Given the description of an element on the screen output the (x, y) to click on. 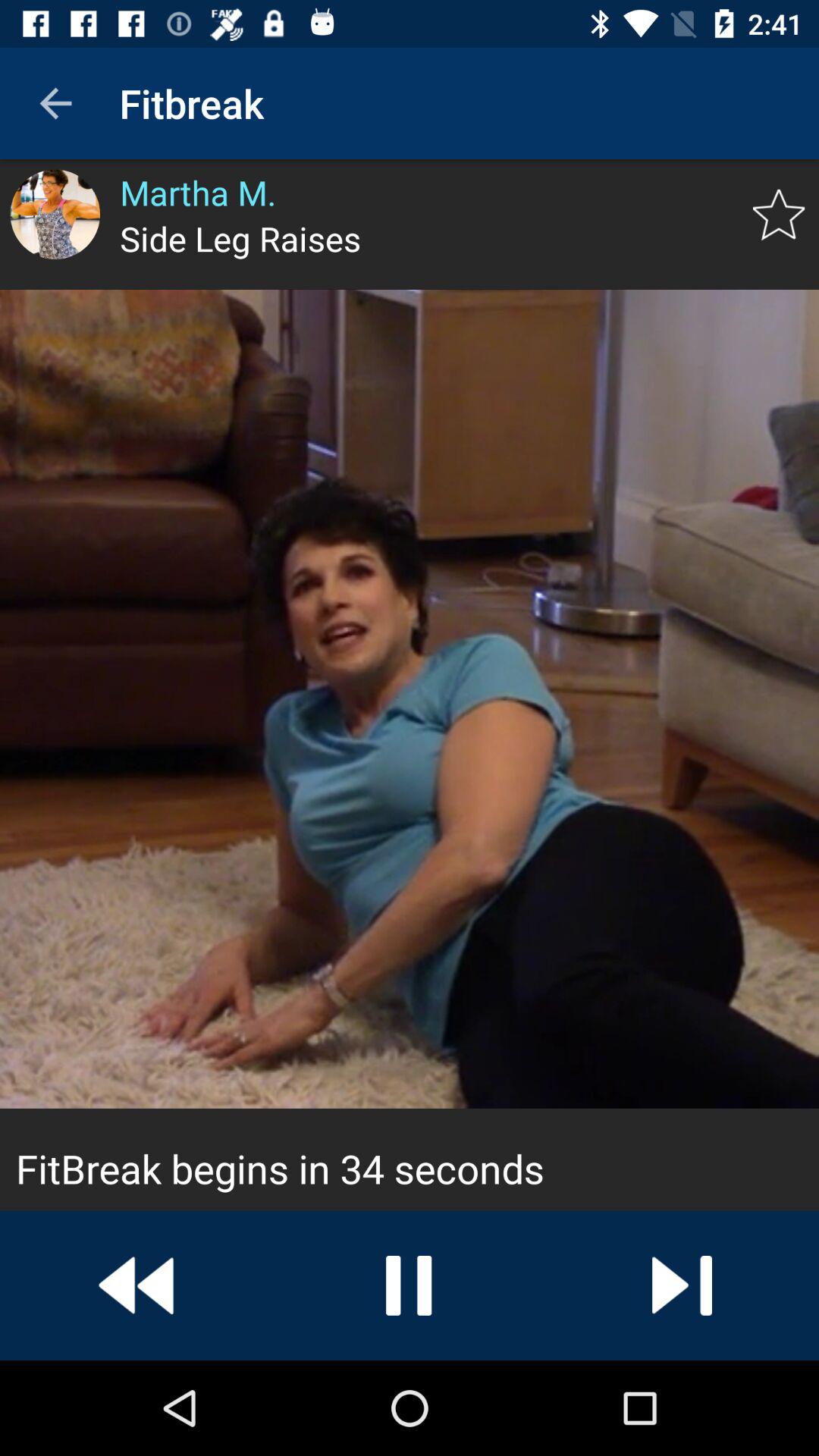
pause video (409, 1285)
